Given the description of an element on the screen output the (x, y) to click on. 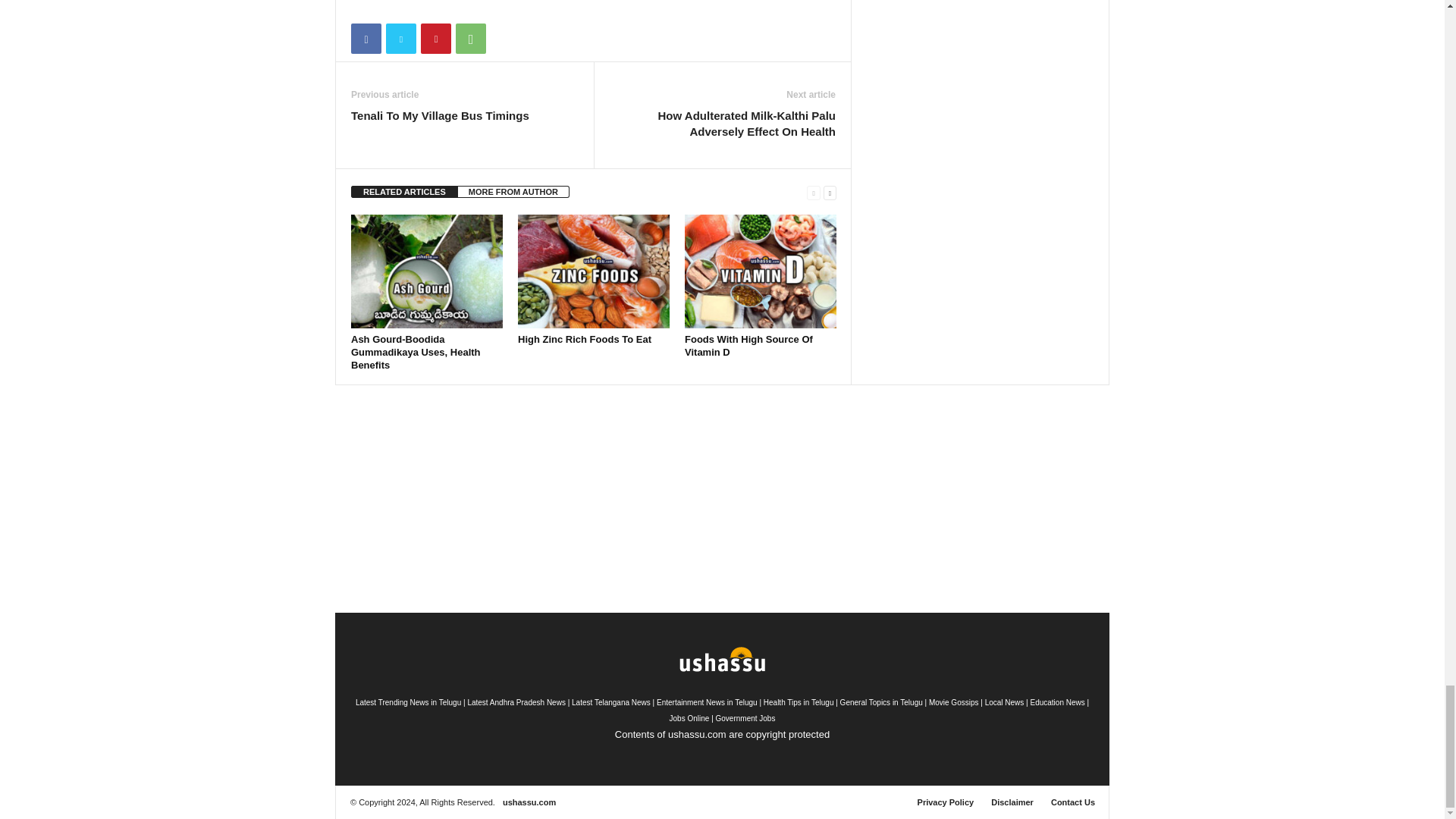
RELATED ARTICLES (404, 191)
WhatsApp (470, 38)
bottomFacebookLike (390, 8)
Twitter (400, 38)
Facebook (365, 38)
MORE FROM AUTHOR (513, 191)
Tenali To My Village Bus Timings (439, 115)
How Adulterated Milk-Kalthi Palu Adversely Effect On Health (721, 123)
Pinterest (435, 38)
